Given the description of an element on the screen output the (x, y) to click on. 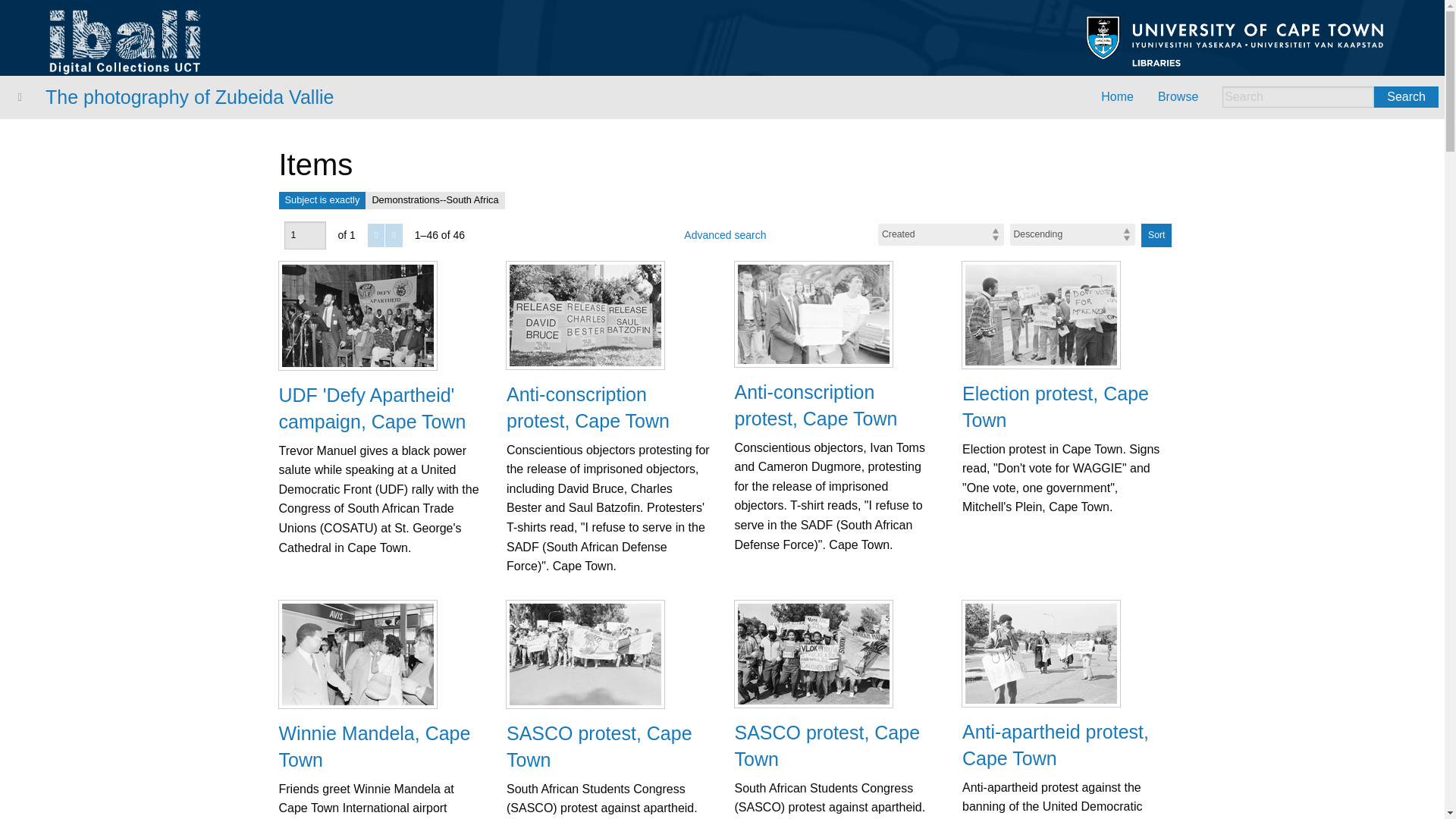
The photography of Zubeida Vallie (189, 97)
Search (1406, 96)
Winnie Mandela, Cape Town (374, 746)
Anti-conscription protest, Cape Town (587, 407)
Browse (1177, 96)
SASCO protest, Cape Town (599, 746)
Election protest, Cape Town (1055, 406)
Advanced search (724, 235)
Landing Page of Ibali: UCT Digital Collections (125, 41)
SASCO protest, Cape Town (826, 745)
Anti-apartheid protest, Cape Town (1055, 745)
UDF 'Defy Apartheid' campaign, Cape Town (372, 408)
1 (303, 234)
Anti-conscription protest, Cape Town (814, 405)
Sort (1156, 234)
